Given the description of an element on the screen output the (x, y) to click on. 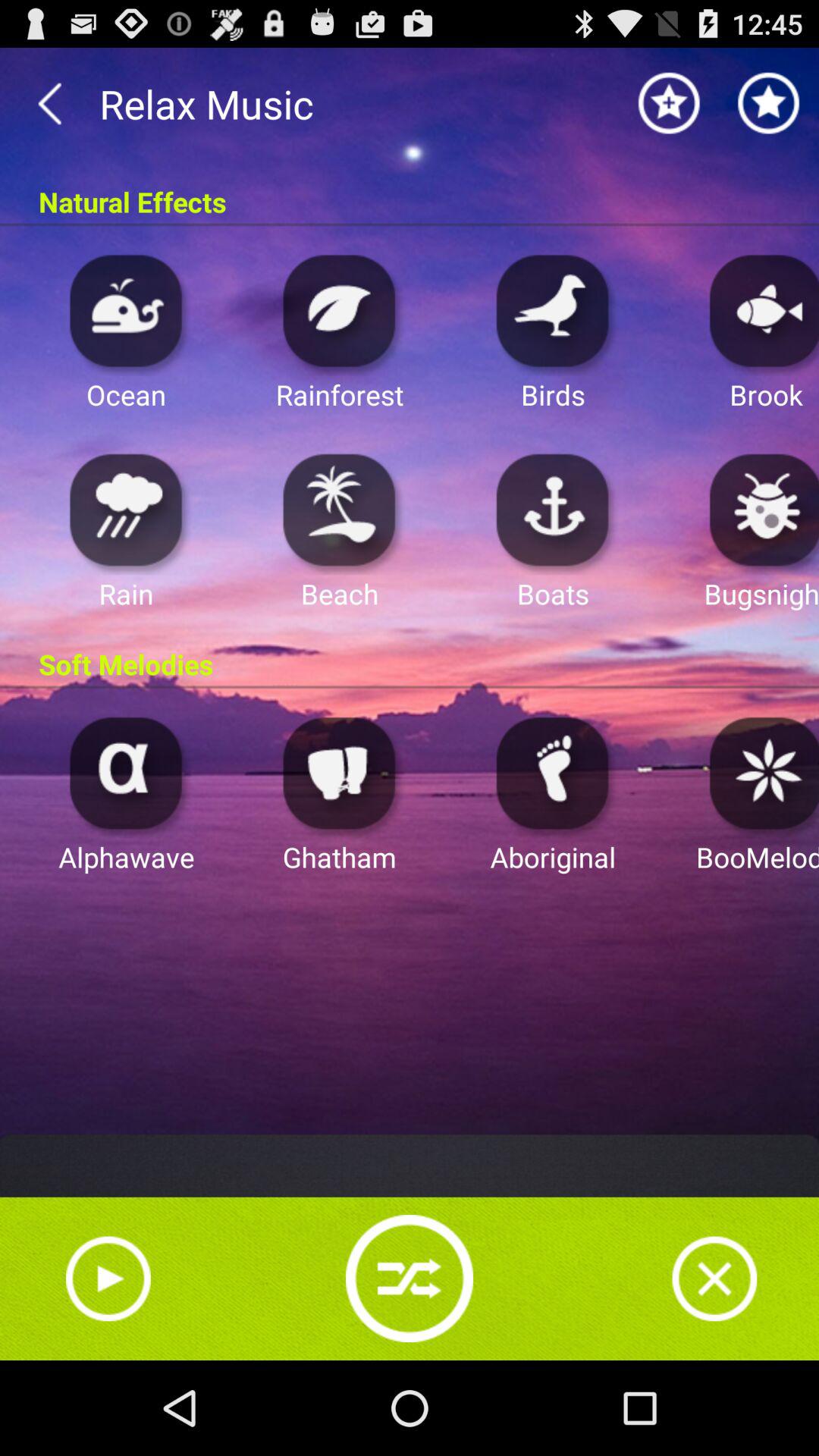
go to favorites (769, 103)
